Given the description of an element on the screen output the (x, y) to click on. 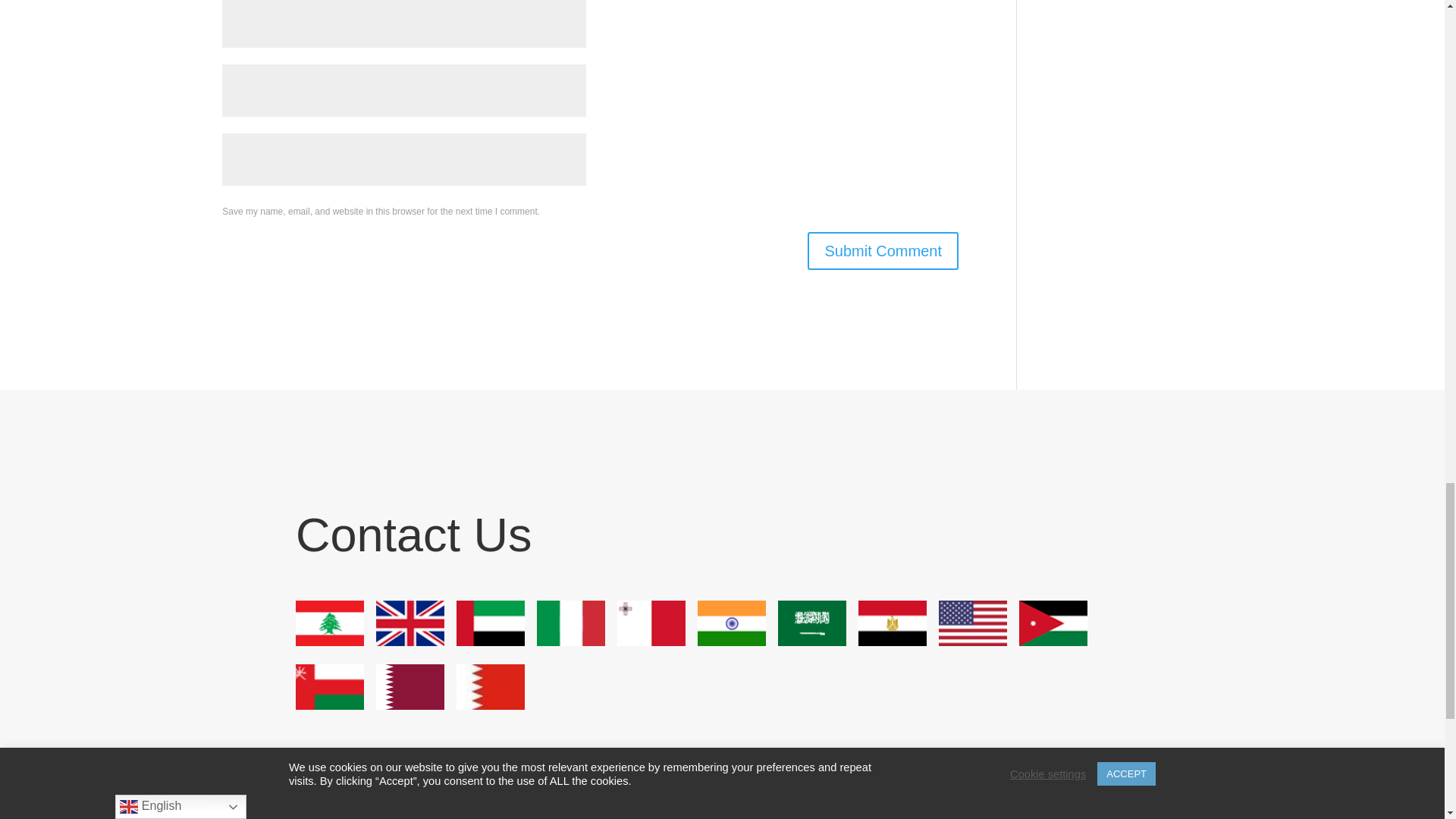
Submit Comment (883, 250)
